Given the description of an element on the screen output the (x, y) to click on. 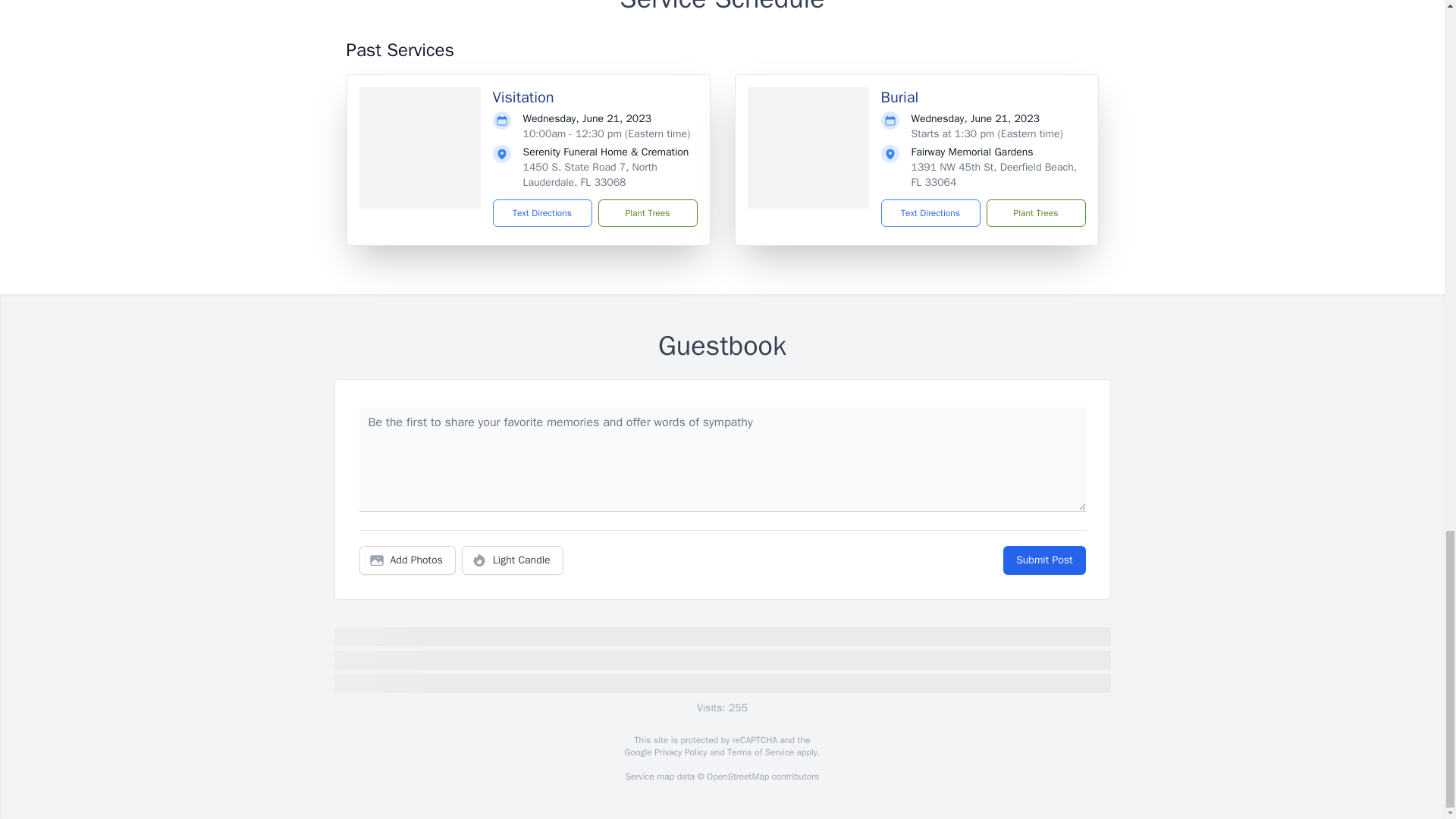
Text Directions (929, 212)
Terms of Service (759, 752)
1391 NW 45th St, Deerfield Beach, FL 33064 (994, 174)
Light Candle (512, 560)
Submit Post (1043, 560)
Plant Trees (1034, 212)
Plant Trees (646, 212)
1450 S. State Road 7, North Lauderdale, FL 33068 (590, 174)
Privacy Policy (679, 752)
Add Photos (407, 560)
